Given the description of an element on the screen output the (x, y) to click on. 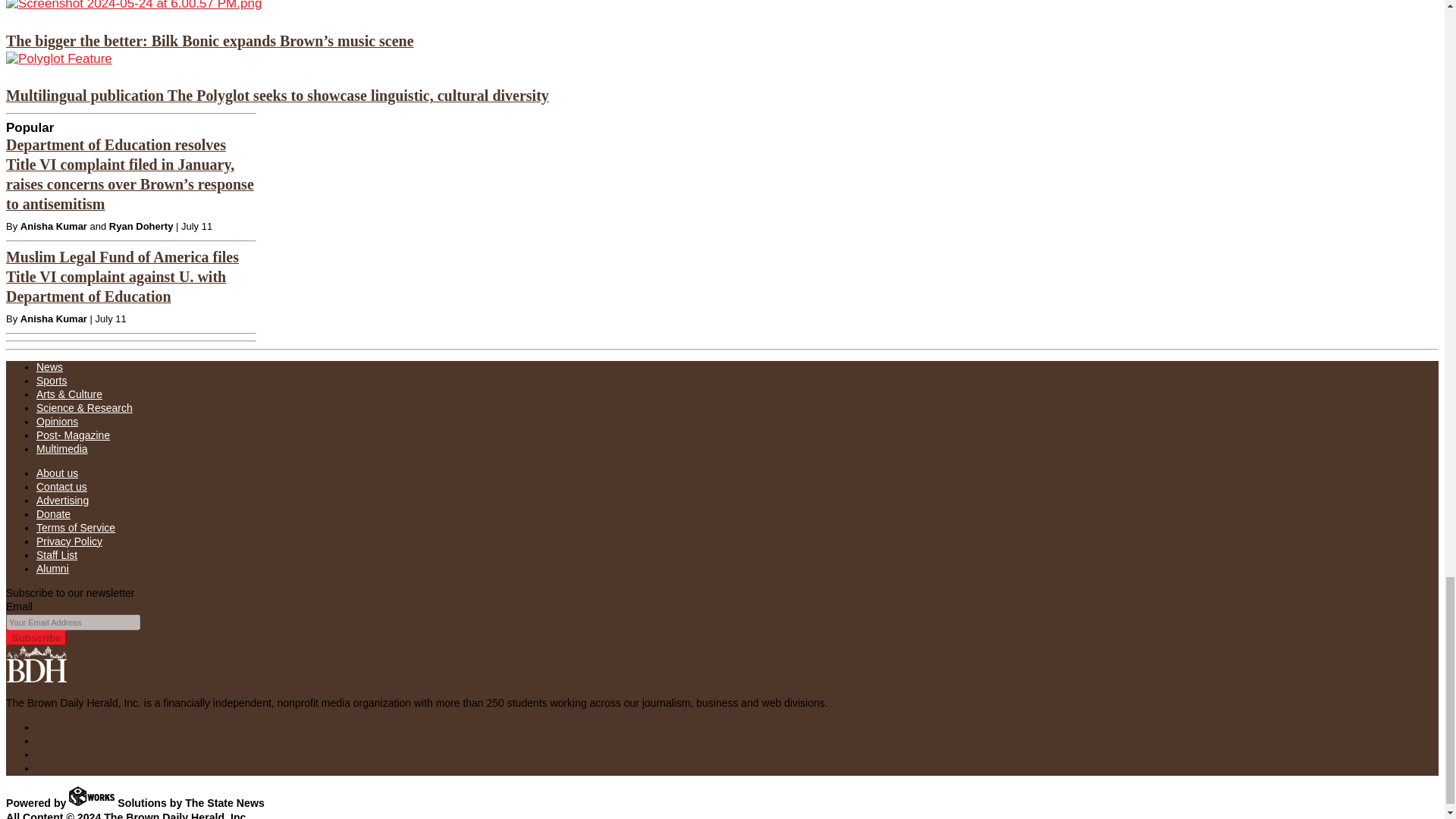
Subscribe (35, 637)
